Given the description of an element on the screen output the (x, y) to click on. 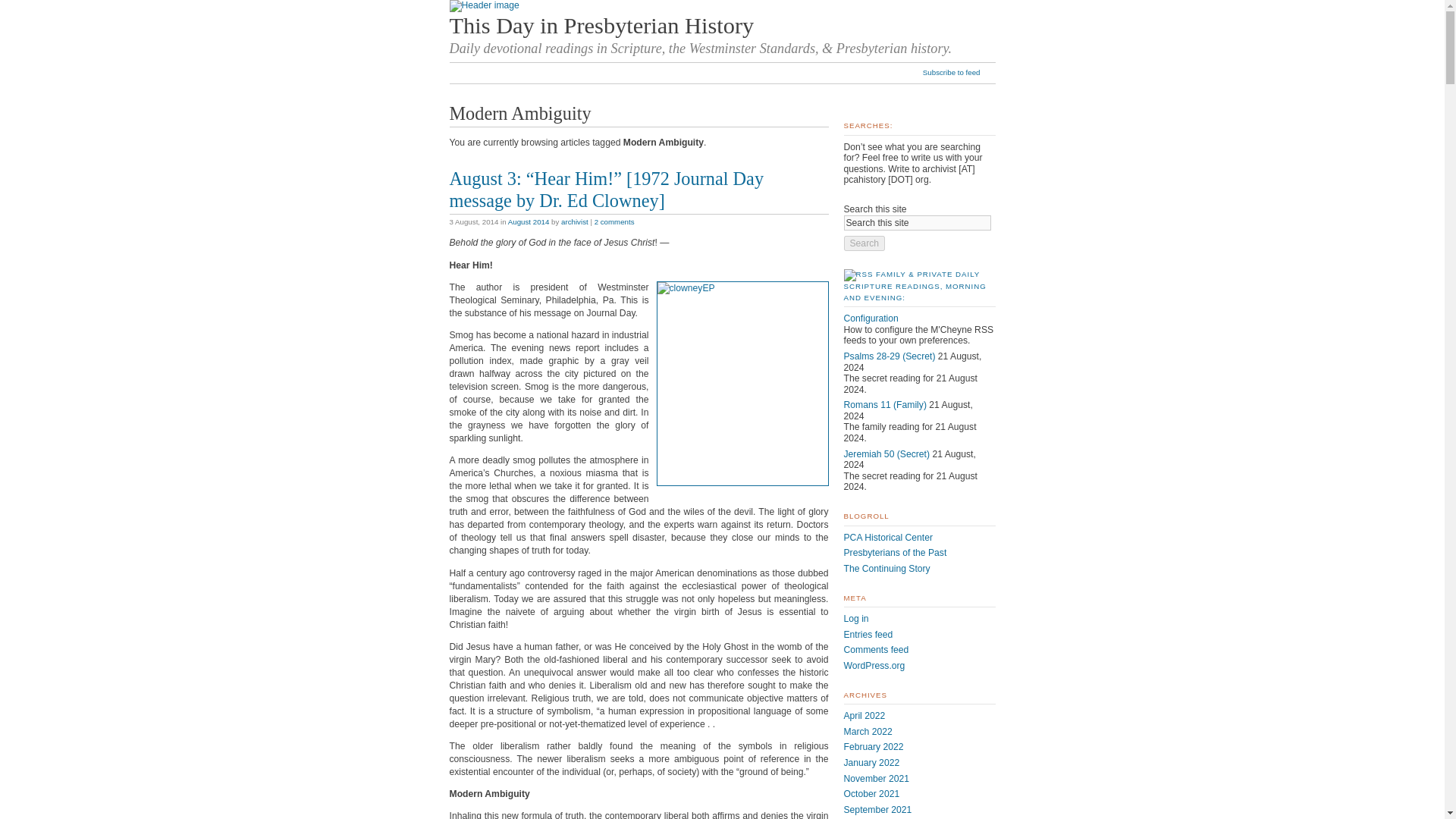
2 comments (614, 221)
archivist (574, 221)
Search (864, 242)
Return to main page (483, 5)
Subscribe to feed (959, 72)
August 2014 (529, 221)
Return to main page (601, 25)
The lives, places, writings, and events of Reformed history (894, 552)
Articles by archivist (574, 221)
This Day in Presbyterian History (601, 25)
